Given the description of an element on the screen output the (x, y) to click on. 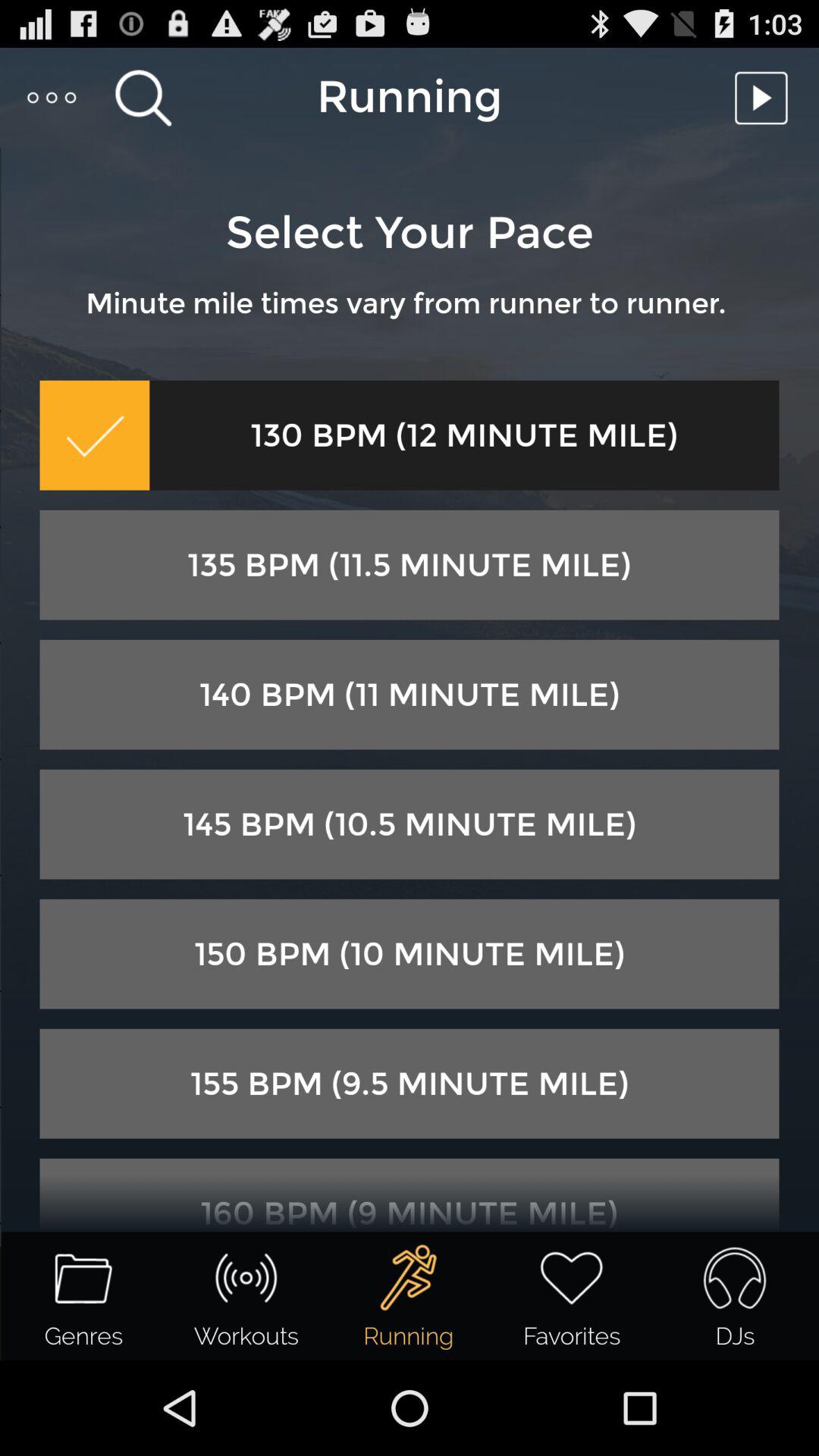
click 130 bpm 12 icon (464, 435)
